Given the description of an element on the screen output the (x, y) to click on. 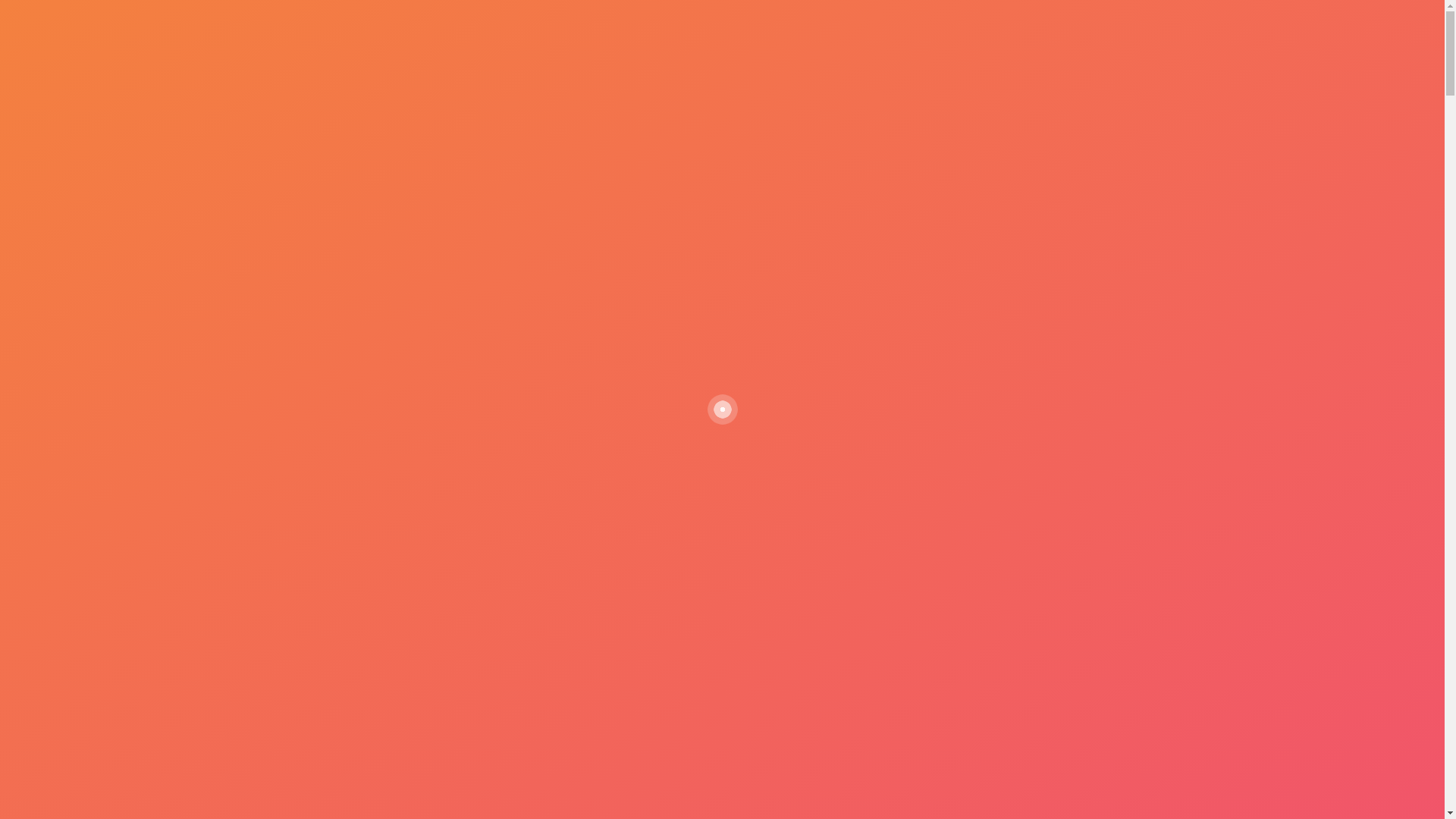
PRESS RELEASE Element type: text (884, 126)
REGISTER NOW Element type: text (998, 126)
HOME Element type: text (349, 126)
WHY CHOOSE MUDBOTS Element type: text (532, 126)
FRANCHISE Element type: text (783, 126)
ABOUT Element type: text (416, 126)
GET STARTED TODAY Element type: text (81, 542)
USES & BENEFITS Element type: text (675, 126)
